Given the description of an element on the screen output the (x, y) to click on. 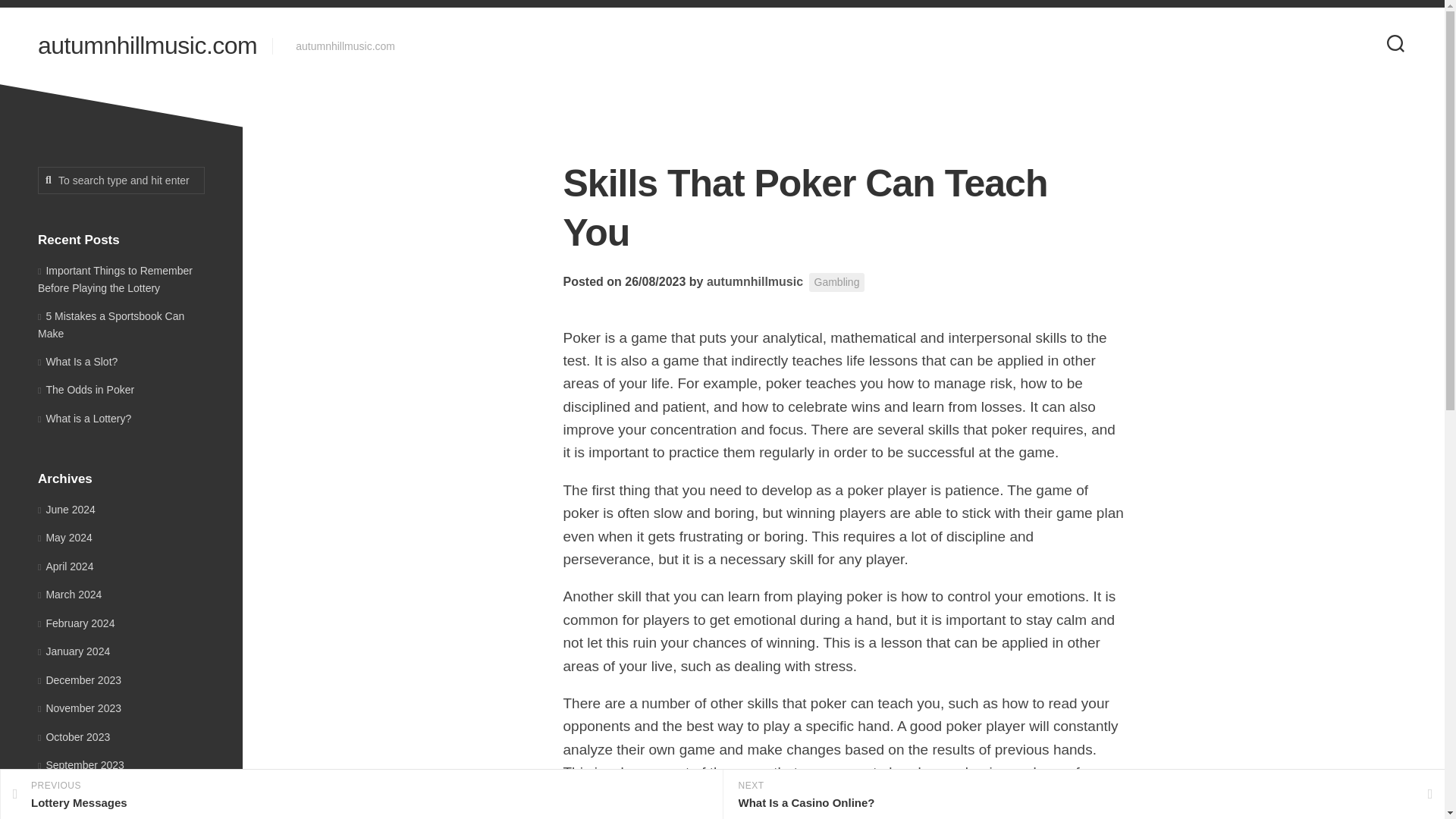
autumnhillmusic (754, 281)
August 2023 (70, 793)
Posts by autumnhillmusic (754, 281)
June 2024 (66, 509)
What Is a Slot? (77, 360)
To search type and hit enter (361, 794)
December 2023 (121, 180)
Important Things to Remember Before Playing the Lottery (78, 679)
February 2024 (114, 278)
